Given the description of an element on the screen output the (x, y) to click on. 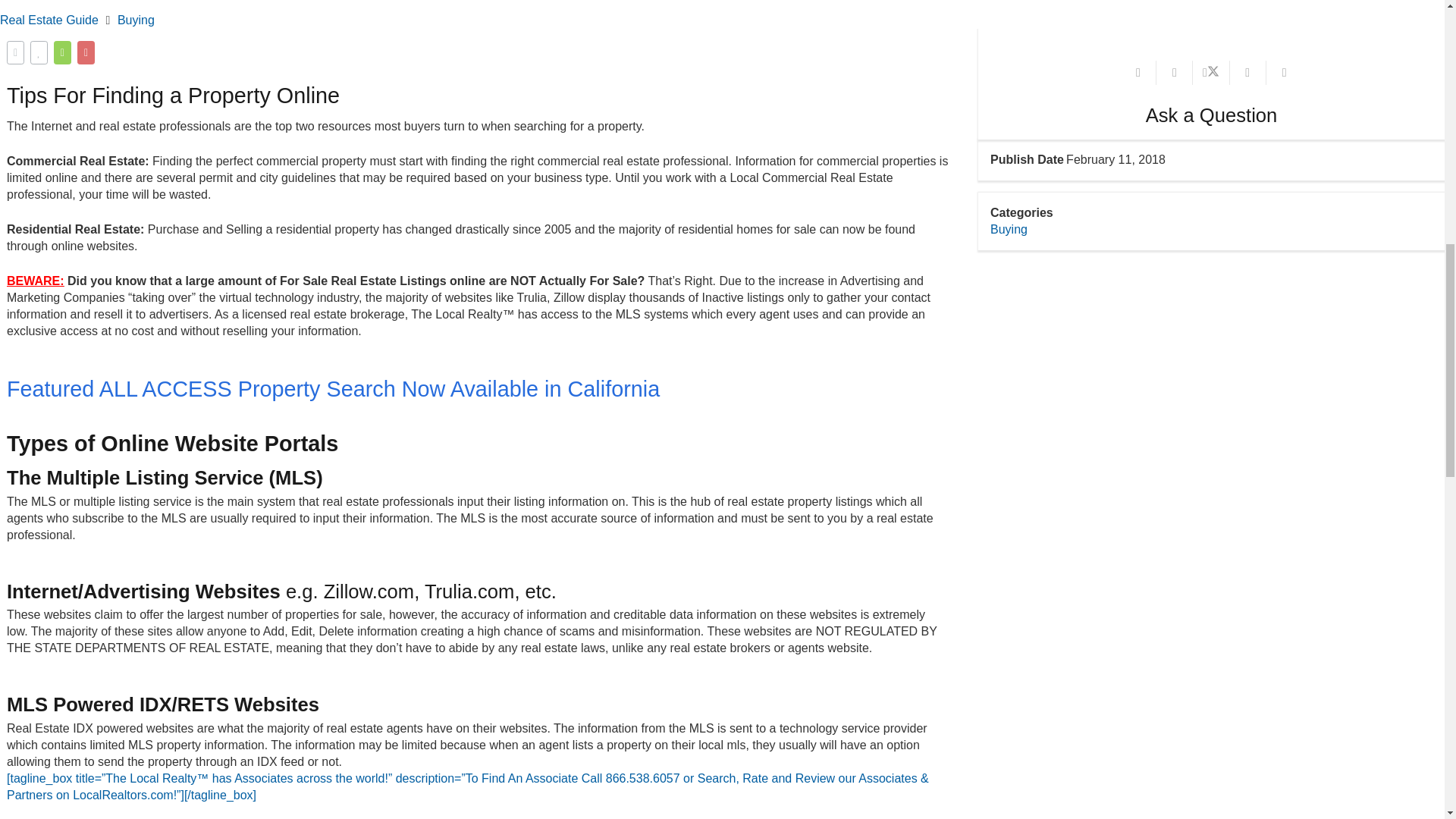
Share this (1248, 72)
Tweet this (1210, 72)
Buying (1008, 228)
Share this (1174, 72)
California Home Search (333, 389)
Email this (1137, 72)
Pin this (1284, 72)
